Given the description of an element on the screen output the (x, y) to click on. 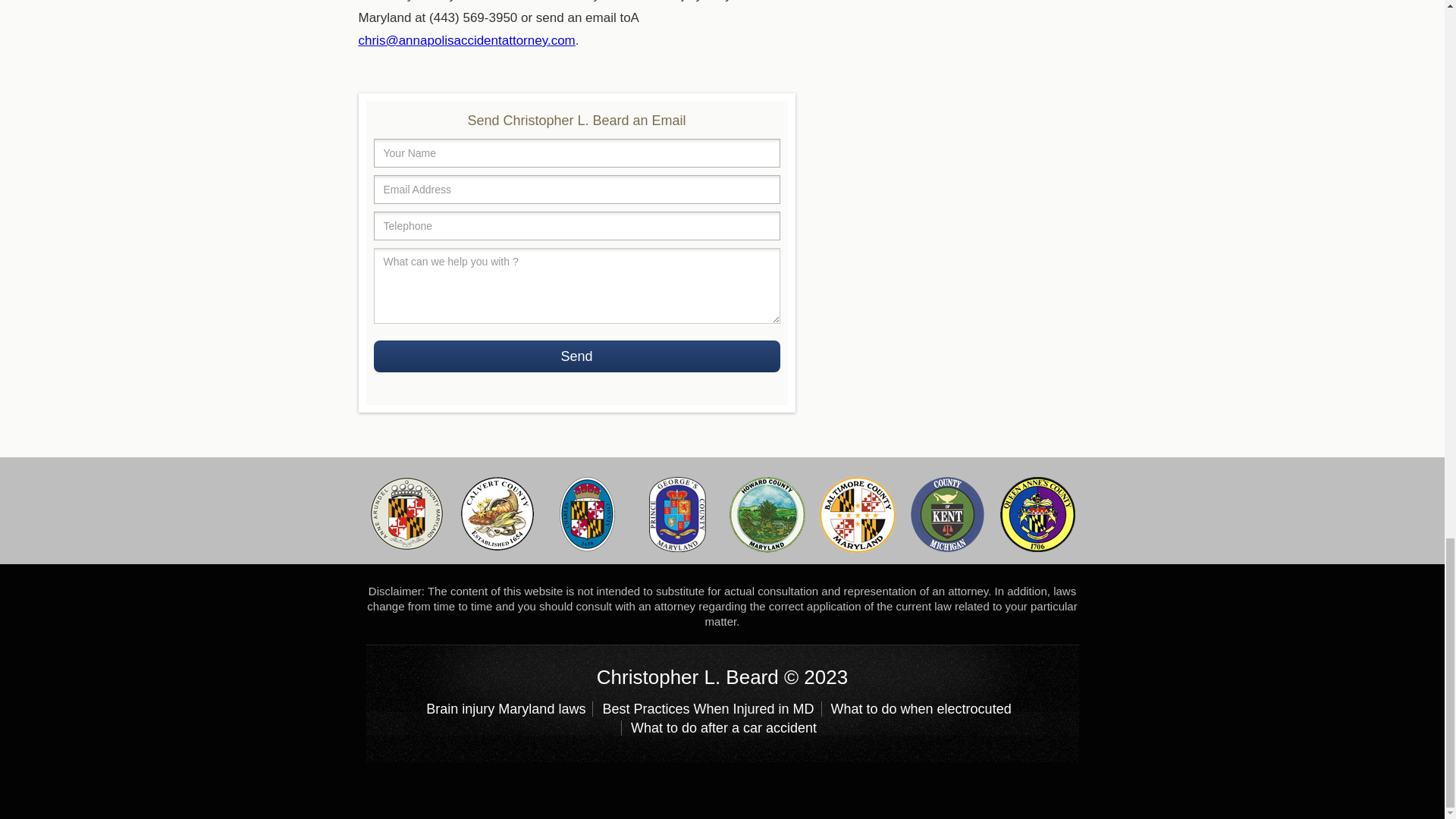
Brain injury Maryland laws (509, 708)
What to do after a car accident (722, 727)
Send (575, 356)
Send (575, 356)
Best Practices When Injured in MD (706, 708)
What to do when electrocuted (919, 708)
